Given the description of an element on the screen output the (x, y) to click on. 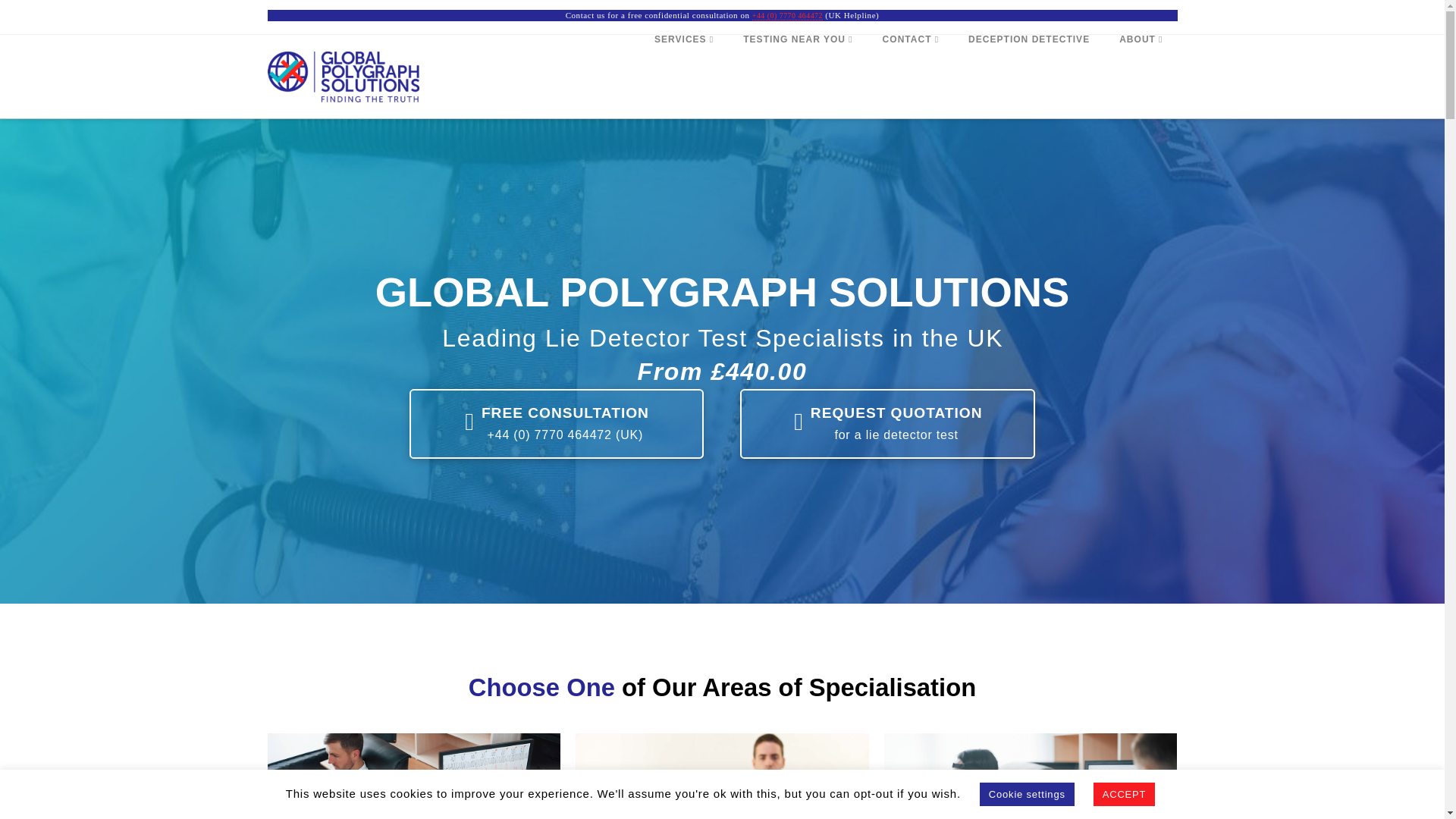
TESTING NEAR YOU (797, 76)
CONTACT (910, 76)
DECEPTION DETECTIVE (1028, 76)
ABOUT (1139, 76)
SERVICES (683, 76)
